Given the description of an element on the screen output the (x, y) to click on. 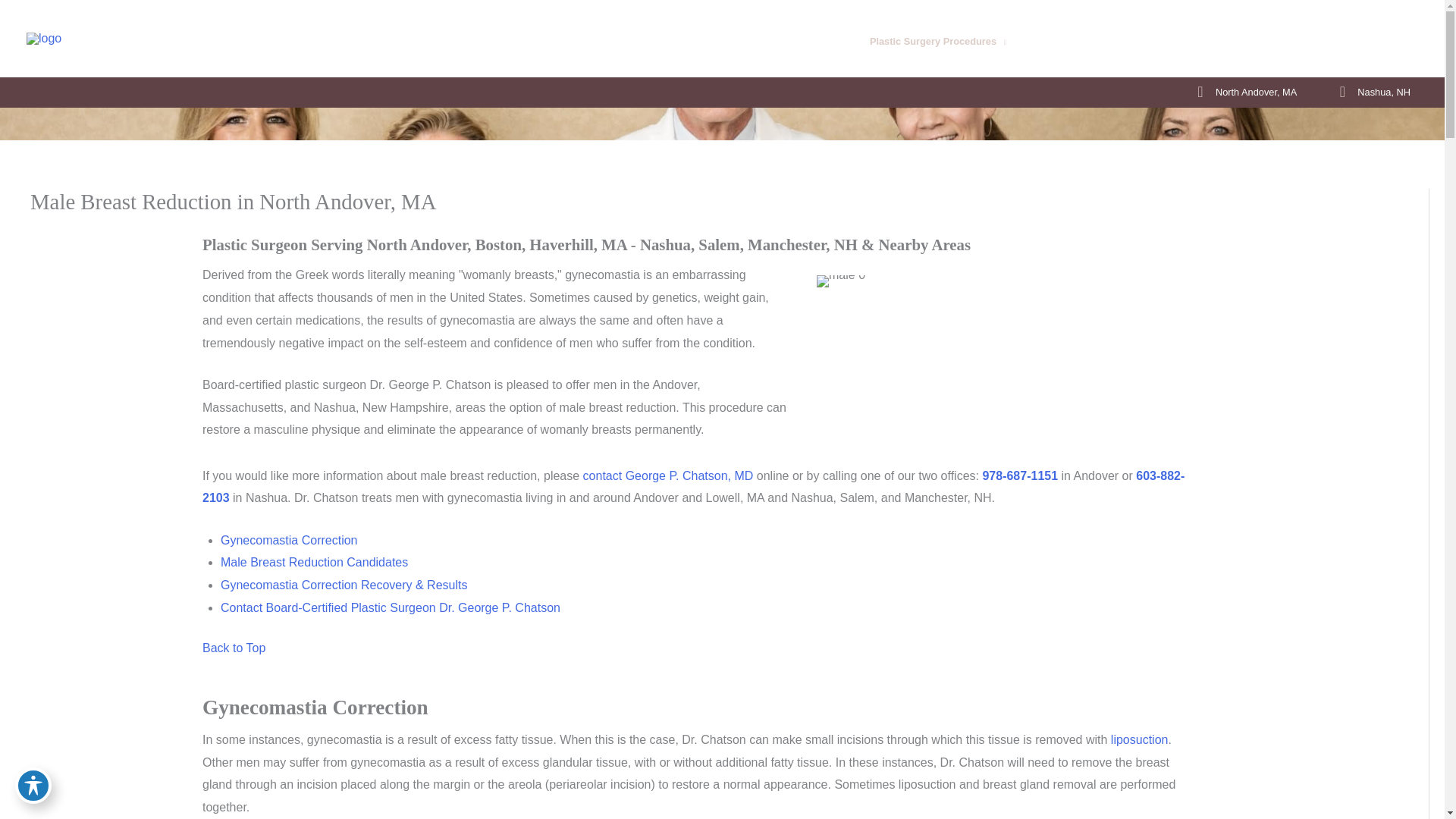
Plastic Surgery Procedures (937, 41)
male 0 (840, 280)
About Us (827, 41)
Home (772, 41)
